Given the description of an element on the screen output the (x, y) to click on. 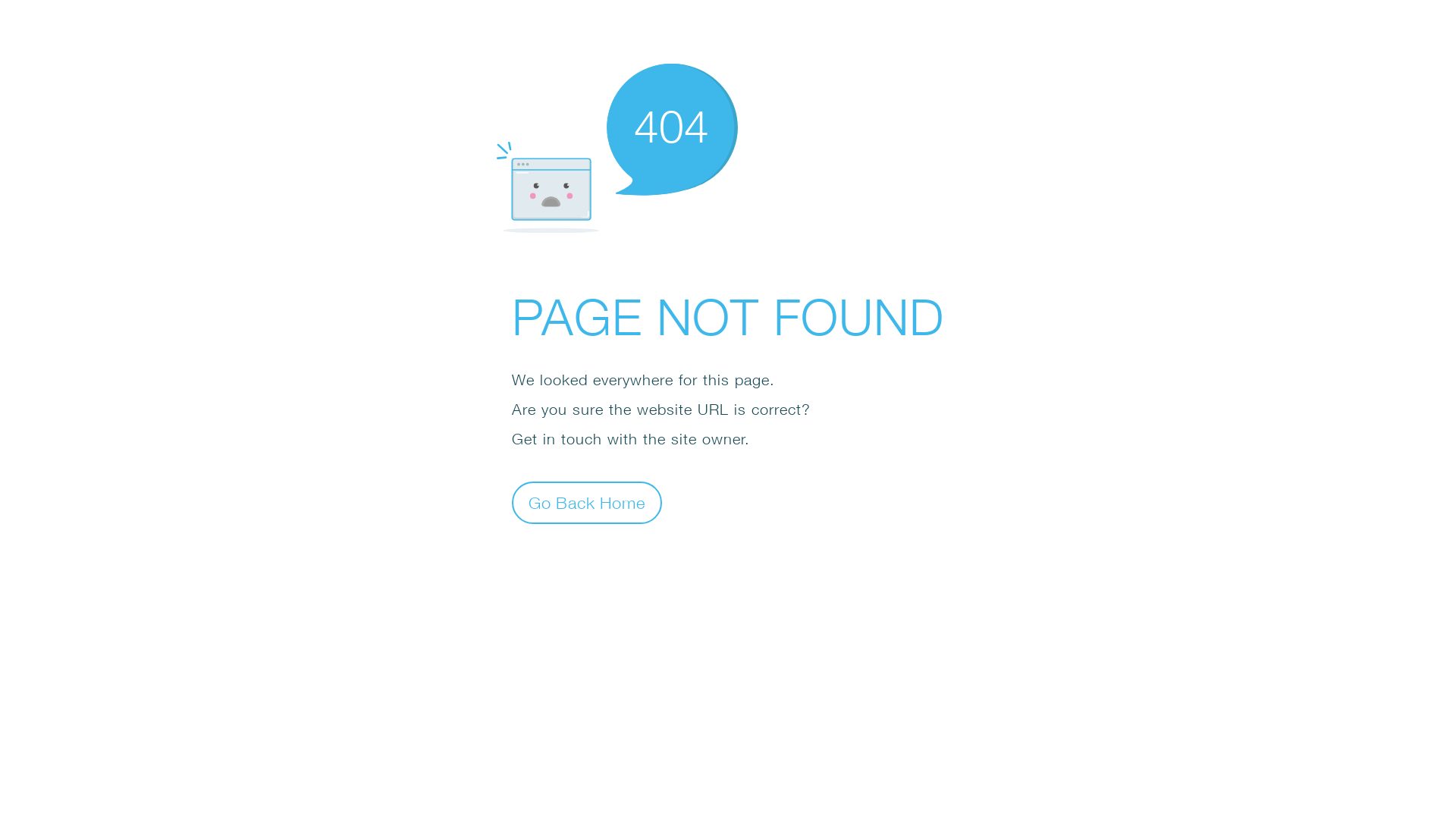
Go Back Home Element type: text (586, 502)
